Given the description of an element on the screen output the (x, y) to click on. 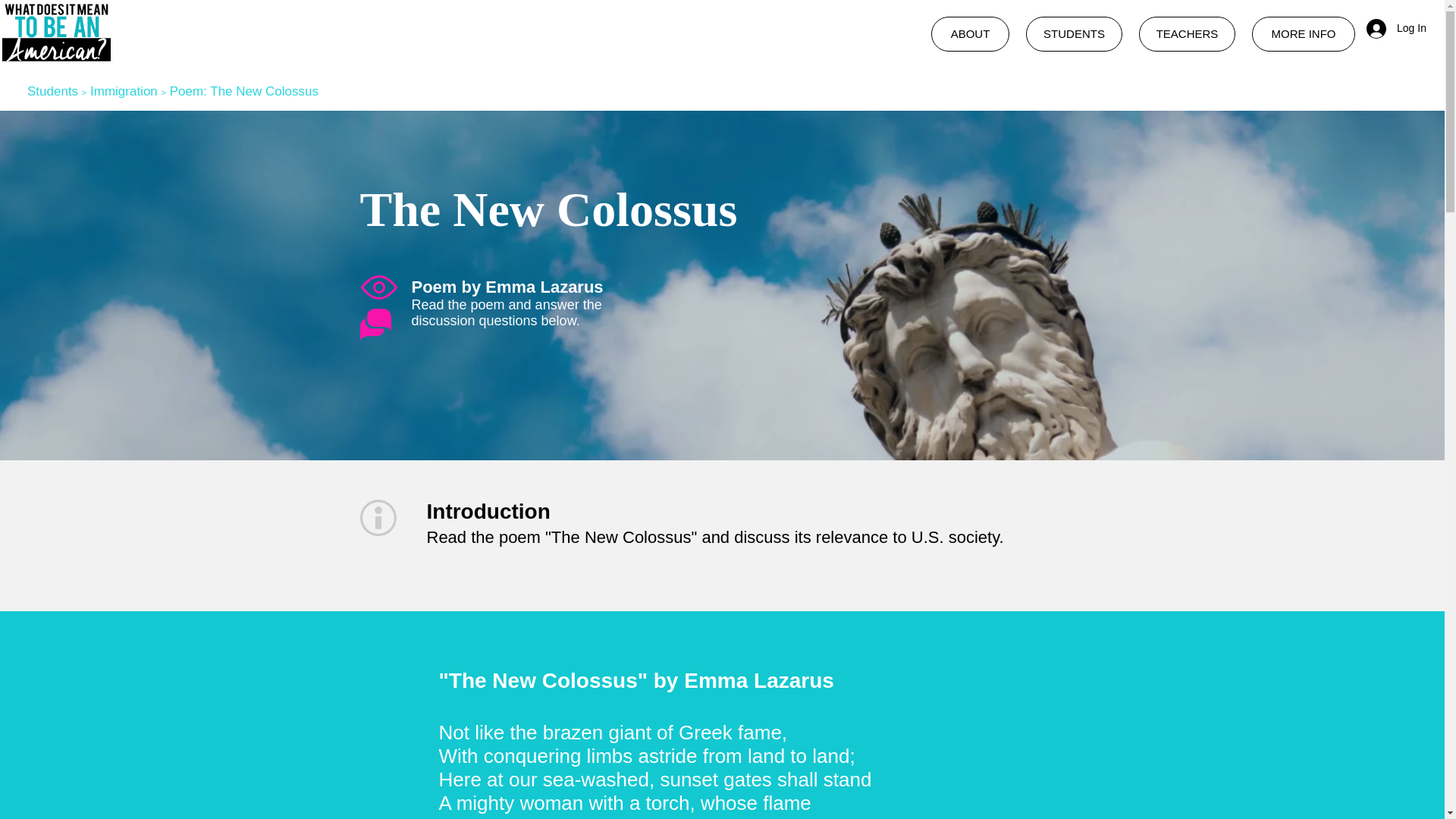
Immigration (123, 91)
STUDENTS (1074, 33)
The New Colossus (263, 91)
ABOUT (970, 33)
Log In (1391, 28)
TEACHERS (1186, 33)
Students (52, 91)
